Given the description of an element on the screen output the (x, y) to click on. 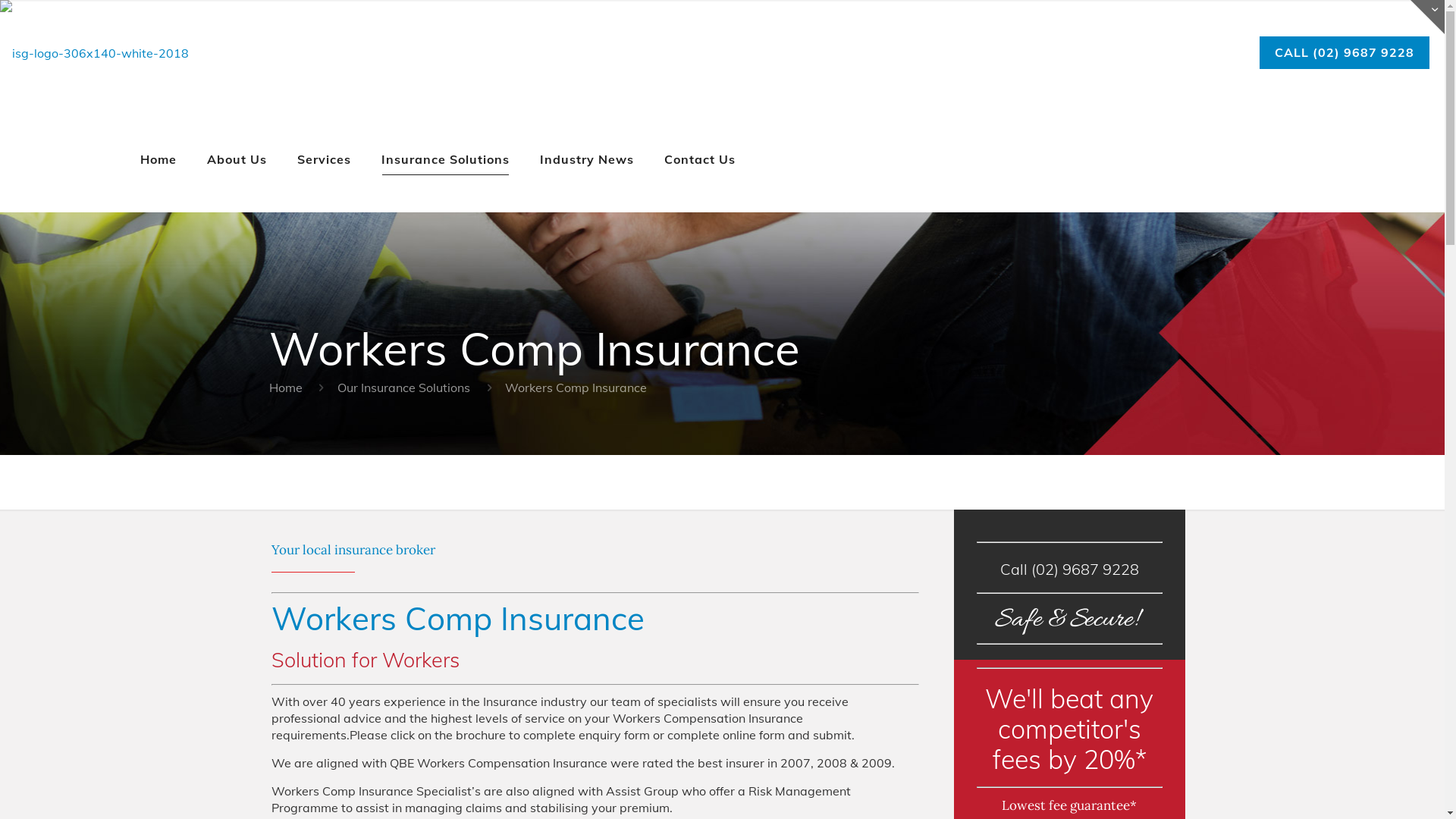
Home Element type: text (158, 159)
ISG Insurance Specialist Group Element type: hover (94, 53)
About Us Element type: text (236, 159)
Services Element type: text (324, 159)
Industry News Element type: text (586, 159)
CALL (02) 9687 9228 Element type: text (1344, 52)
Home Element type: text (285, 387)
Contact Us Element type: text (699, 159)
Workers Comp Insurance Element type: text (575, 387)
Insurance Solutions Element type: text (445, 159)
Our Insurance Solutions Element type: text (403, 387)
